Given the description of an element on the screen output the (x, y) to click on. 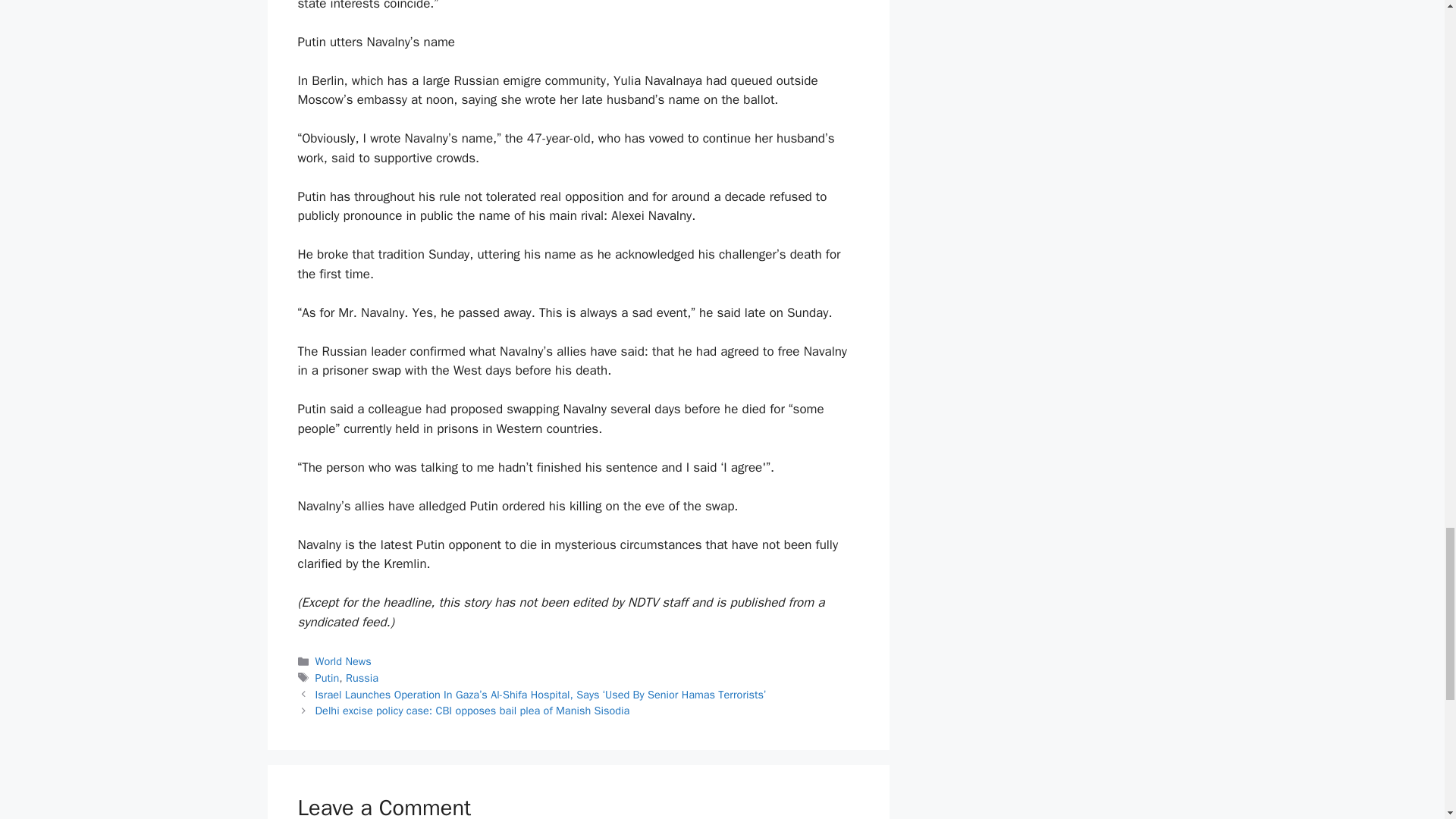
Putin (327, 677)
World News (343, 661)
Russia (362, 677)
